Given the description of an element on the screen output the (x, y) to click on. 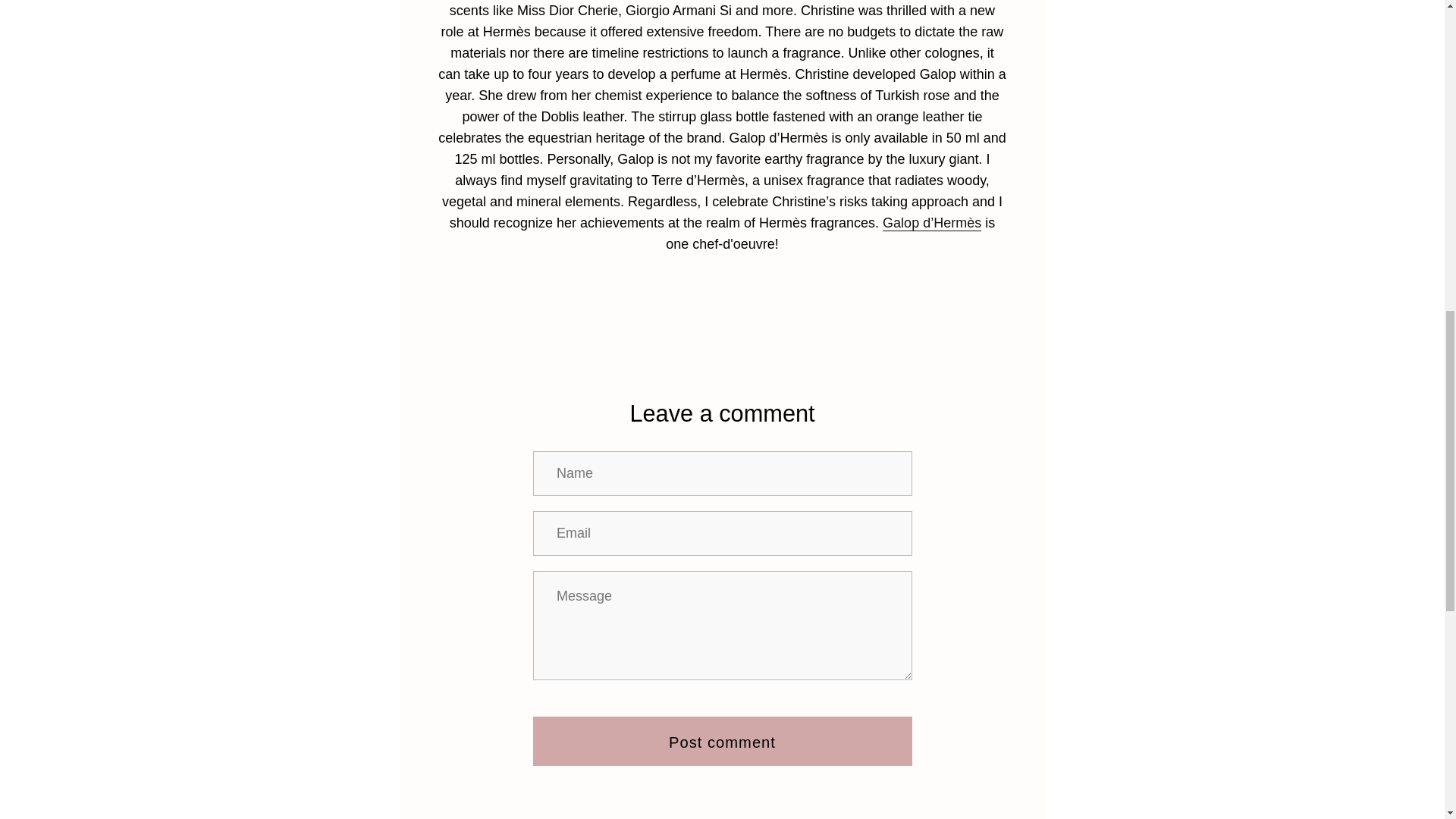
Post comment (721, 740)
Post comment (721, 740)
Hermes Galop Fragrance Campaign (931, 222)
